Given the description of an element on the screen output the (x, y) to click on. 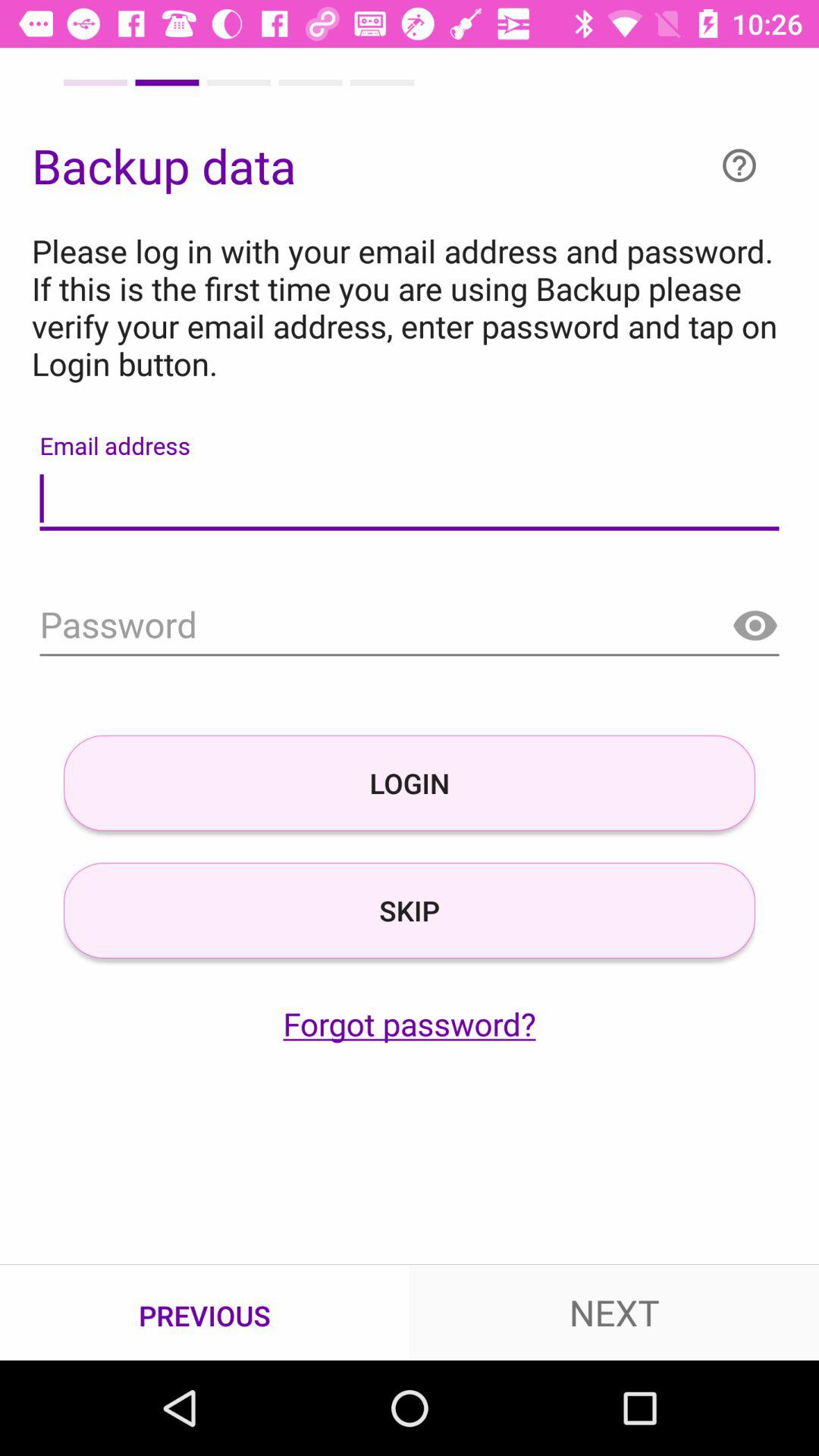
show password option (755, 626)
